Given the description of an element on the screen output the (x, y) to click on. 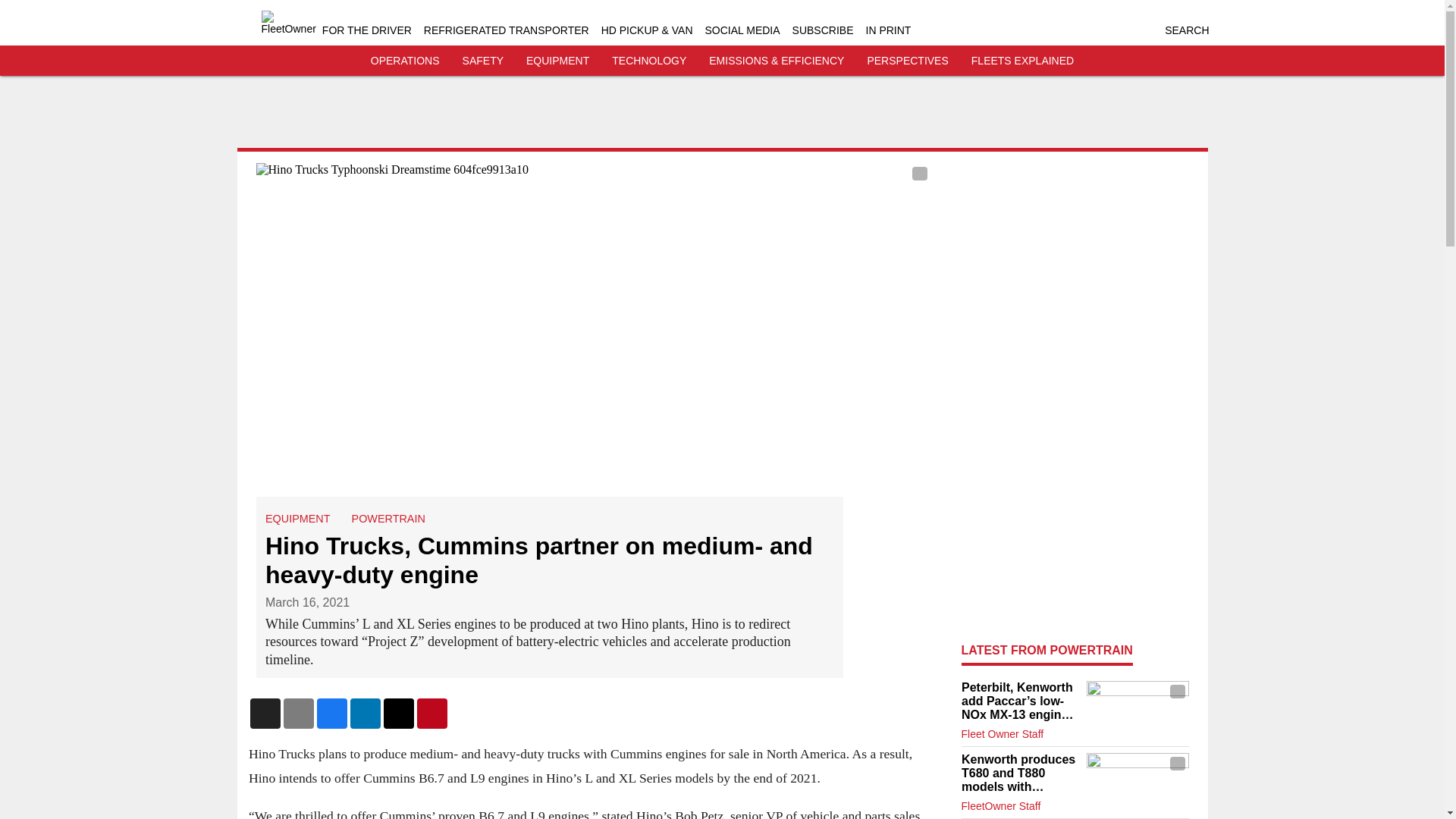
IN PRINT (888, 30)
REFRIGERATED TRANSPORTER (506, 30)
EQUIPMENT (297, 518)
SEARCH (1186, 30)
FLEETS EXPLAINED (1022, 60)
Fleet Owner Staff (1001, 734)
FOR THE DRIVER (366, 30)
TECHNOLOGY (648, 60)
SAFETY (483, 60)
PERSPECTIVES (906, 60)
SUBSCRIBE (822, 30)
SOCIAL MEDIA (742, 30)
EQUIPMENT (557, 60)
POWERTRAIN (387, 518)
